Given the description of an element on the screen output the (x, y) to click on. 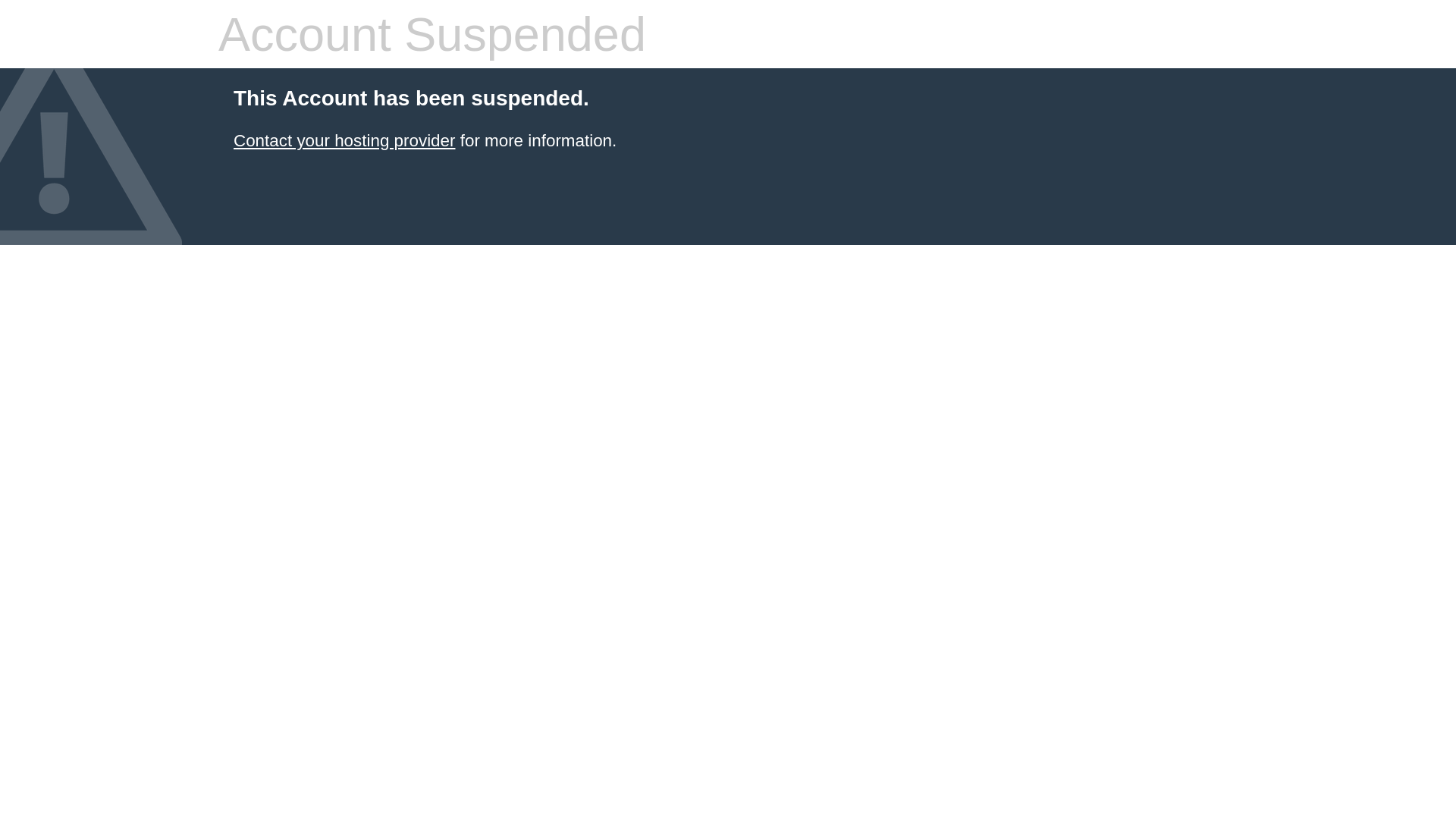
Contact your hosting provider Element type: text (344, 140)
